Given the description of an element on the screen output the (x, y) to click on. 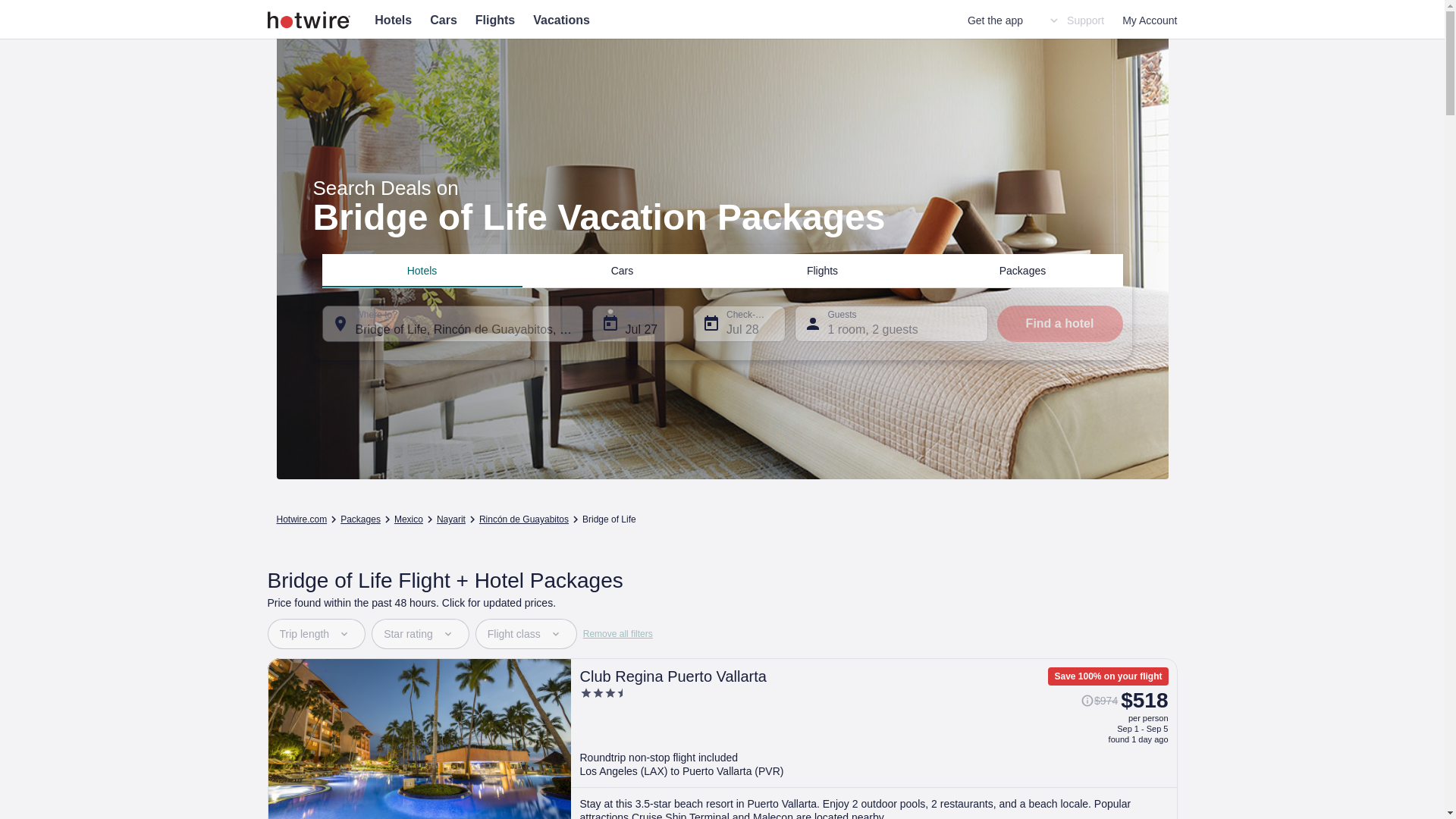
1 room, 2 guests (891, 322)
Hotels (421, 269)
Nayarit (450, 519)
Support (1075, 20)
Hotels (393, 19)
Find a hotel (1058, 322)
Get the app (995, 20)
Vacations (560, 19)
Mexico (408, 519)
Flights (821, 269)
Cars (621, 269)
Cars (443, 19)
My Account (1149, 20)
Jul 27 (637, 322)
Jul 28 (739, 322)
